Given the description of an element on the screen output the (x, y) to click on. 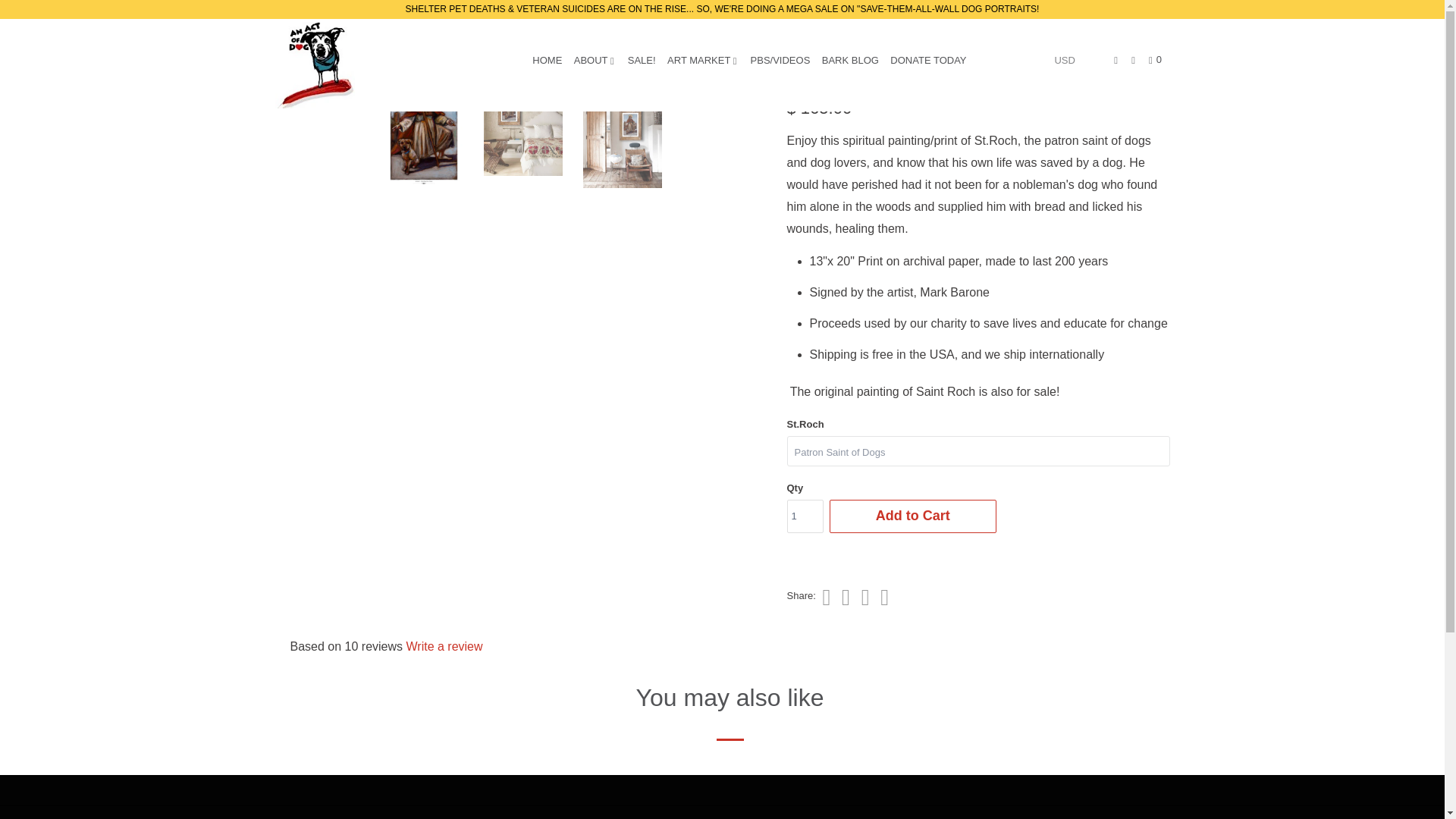
An Act of Dog (352, 64)
1 (805, 516)
